Given the description of an element on the screen output the (x, y) to click on. 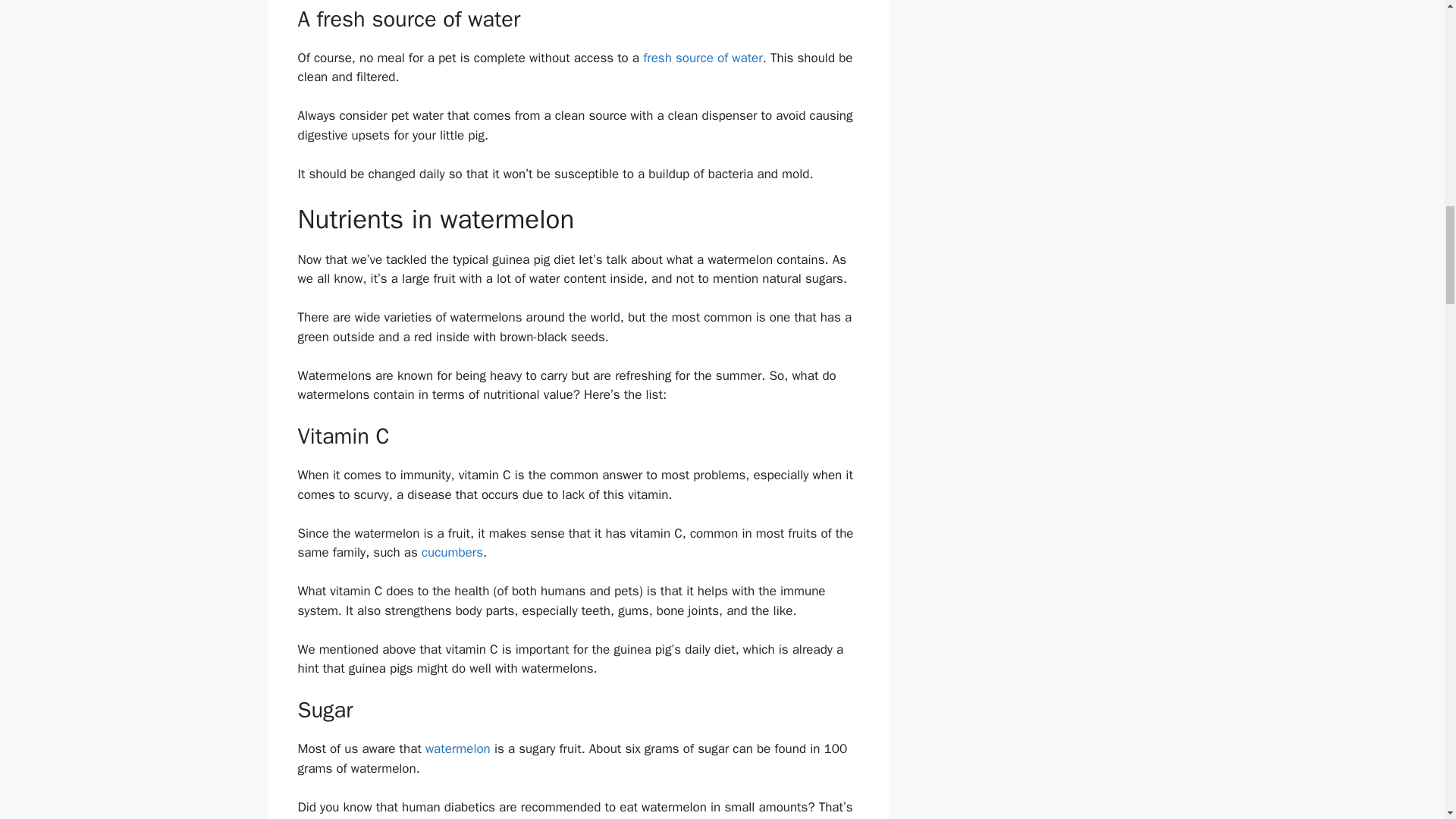
watermelon (457, 748)
fresh source of water (702, 57)
cucumbers (452, 552)
